Given the description of an element on the screen output the (x, y) to click on. 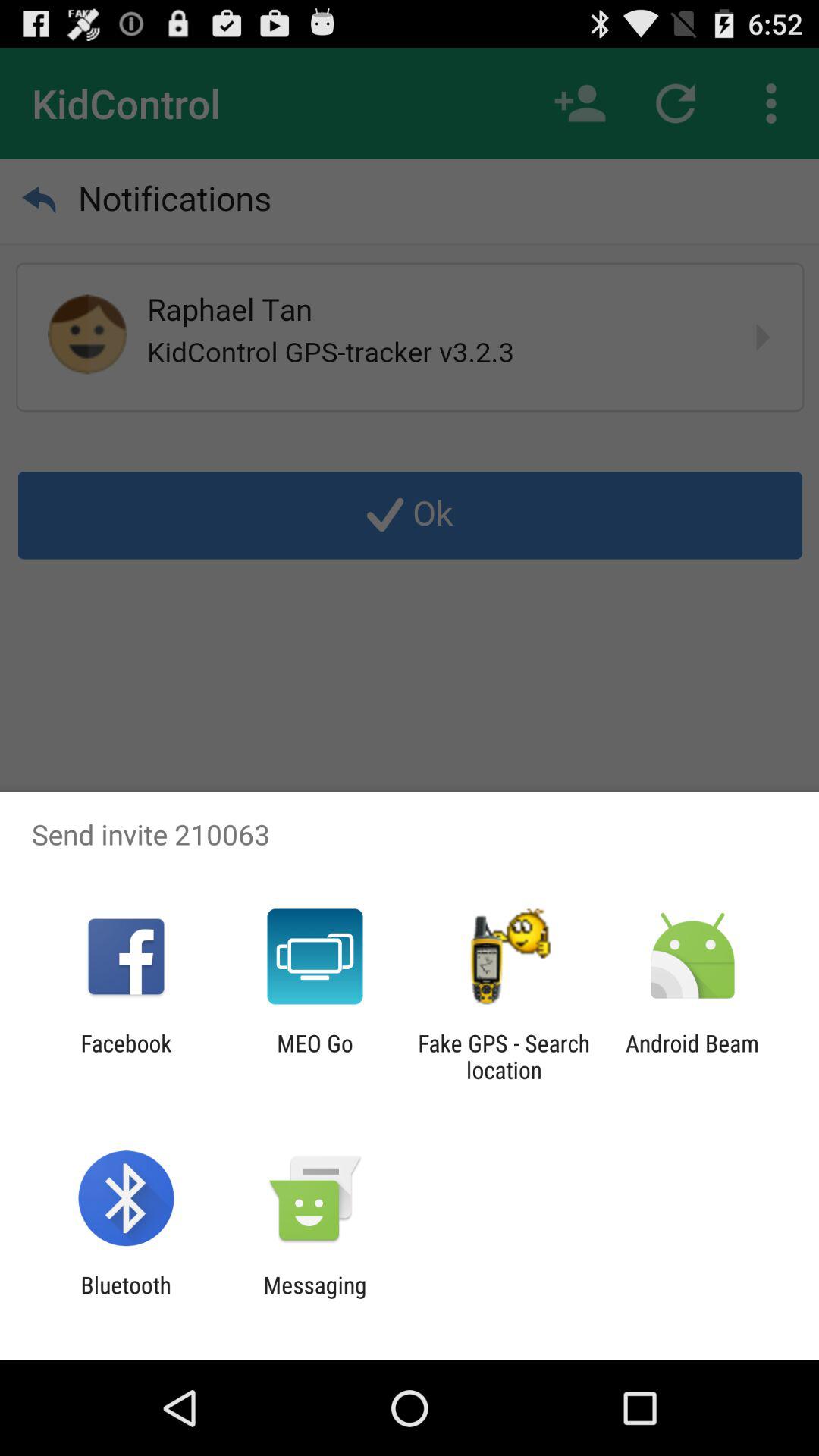
jump to fake gps search item (503, 1056)
